Given the description of an element on the screen output the (x, y) to click on. 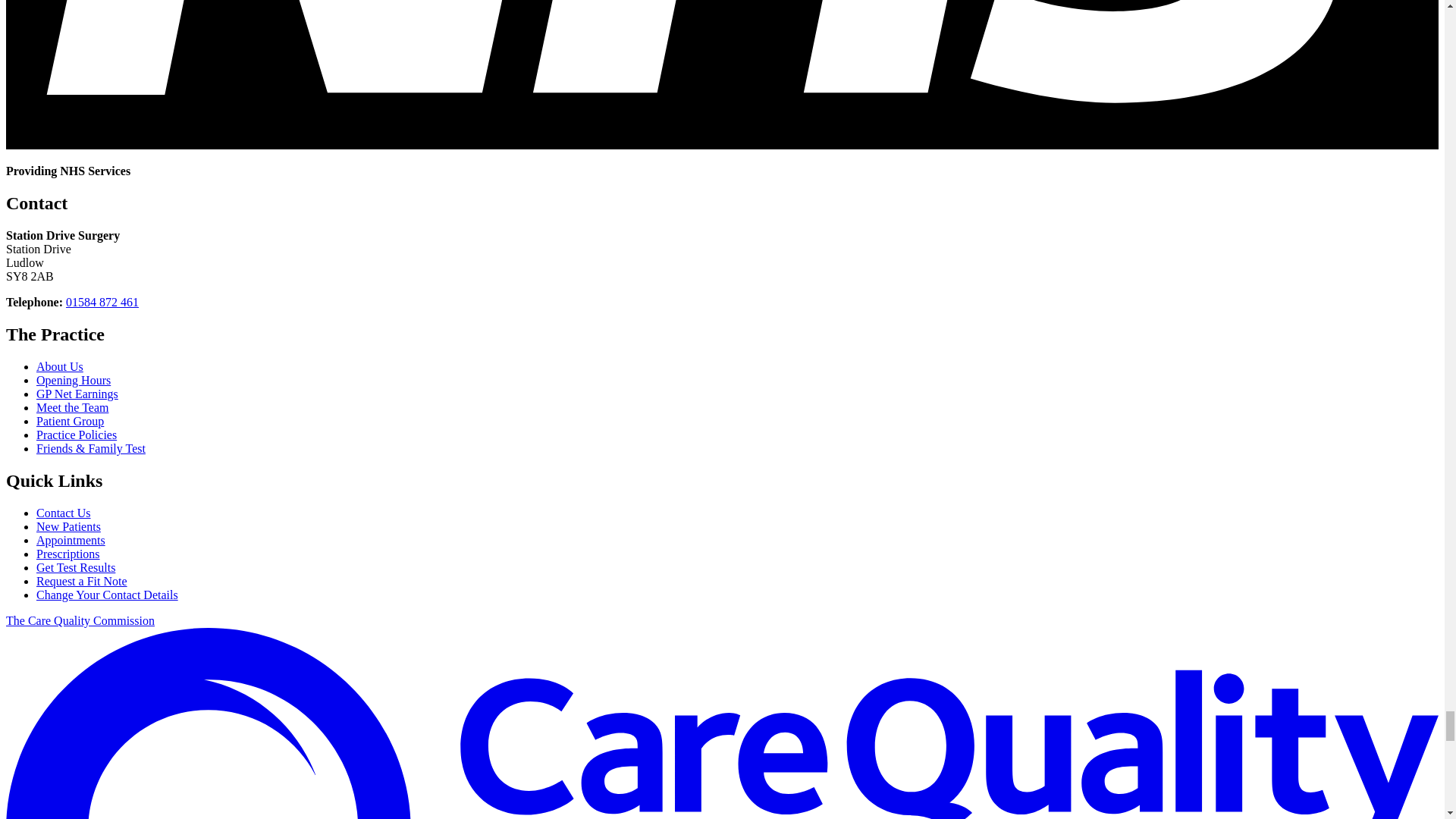
Meet the Team (71, 407)
01584 872 461 (101, 301)
Contact Us (63, 512)
Appointments (70, 540)
Practice Policies (76, 434)
Opening Hours (73, 379)
New Patients (68, 526)
Prescriptions (68, 553)
Get Test Results (75, 567)
Patient Group (69, 420)
About Us (59, 366)
Request a Fit Note (82, 581)
GP Net Earnings (76, 393)
Change Your Contact Details (106, 594)
